Given the description of an element on the screen output the (x, y) to click on. 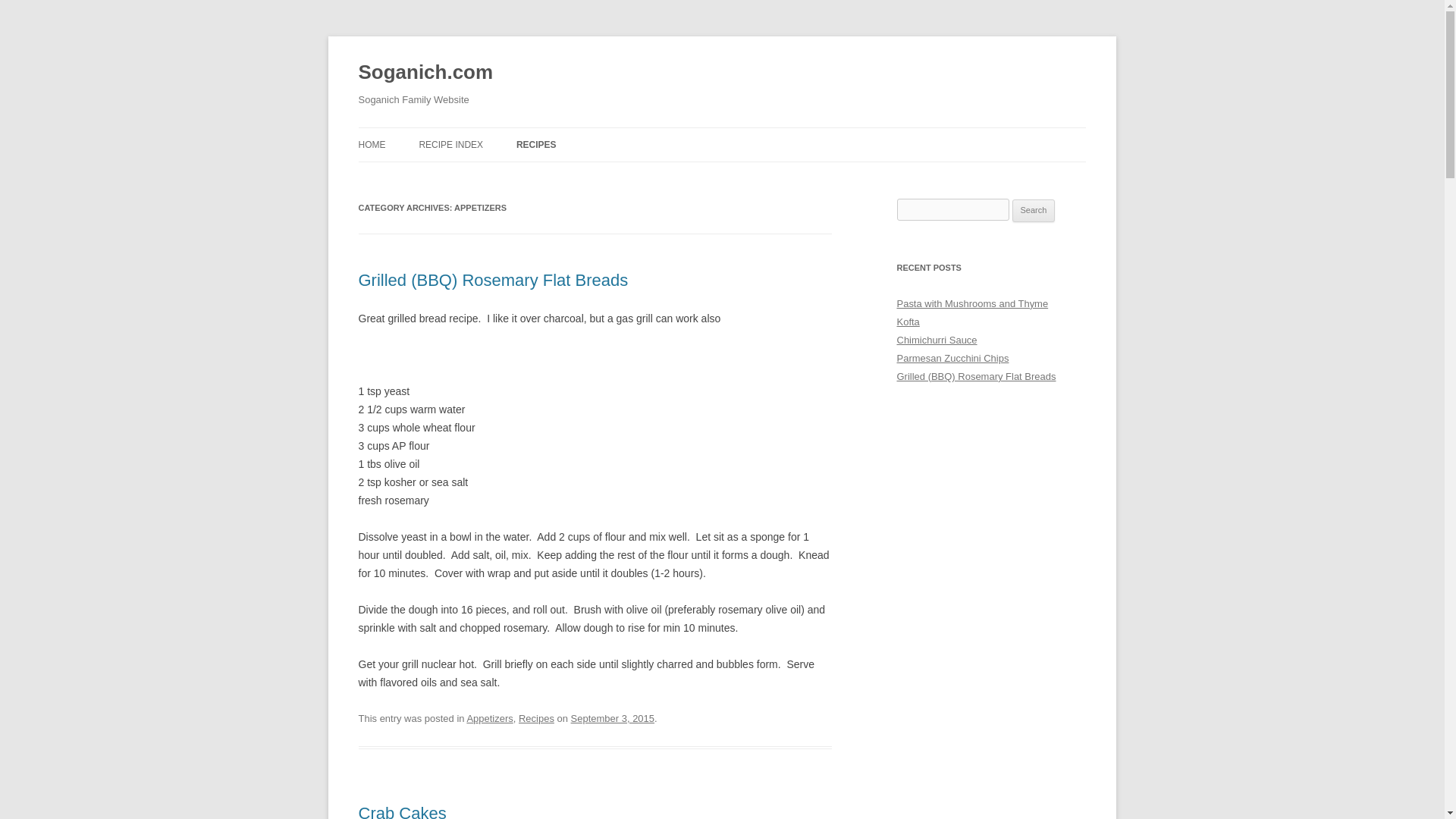
Appetizers (488, 717)
Skip to content (757, 132)
RECIPES (536, 144)
Soganich.com (425, 72)
Recipes (536, 717)
September 3, 2015 (611, 717)
Search (1033, 210)
DESERTS AND BAKING (592, 176)
Skip to content (757, 132)
Soganich.com (425, 72)
